Given the description of an element on the screen output the (x, y) to click on. 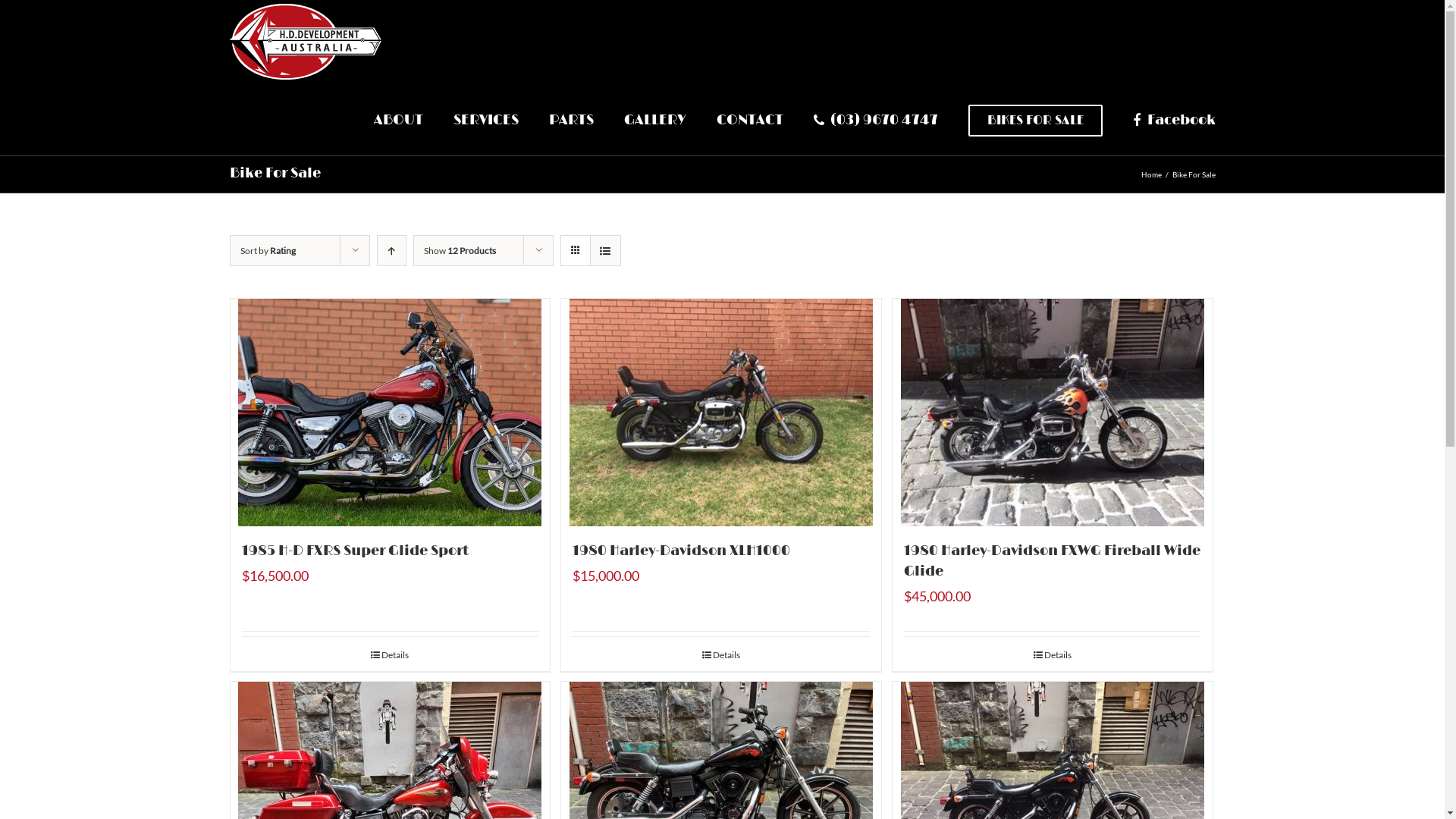
Details Element type: text (720, 655)
CONTACT Element type: text (749, 119)
PARTS Element type: text (571, 119)
Home Element type: text (1150, 173)
Sort by Rating Element type: text (266, 250)
Details Element type: text (1052, 655)
1980 Harley-Davidson FXWG Fireball Wide Glide Element type: text (1051, 561)
Show 12 Products Element type: text (459, 250)
1980 Harley-Davidson XLH1000 Element type: text (681, 550)
Facebook Element type: text (1173, 119)
BIKES FOR SALE Element type: text (1035, 119)
(03) 9670 4747 Element type: text (875, 119)
ABOUT Element type: text (398, 119)
GALLERY Element type: text (655, 119)
SERVICES Element type: text (485, 119)
Details Element type: text (389, 655)
1985 H-D FXRS Super Glide Sport Element type: text (354, 550)
